Given the description of an element on the screen output the (x, y) to click on. 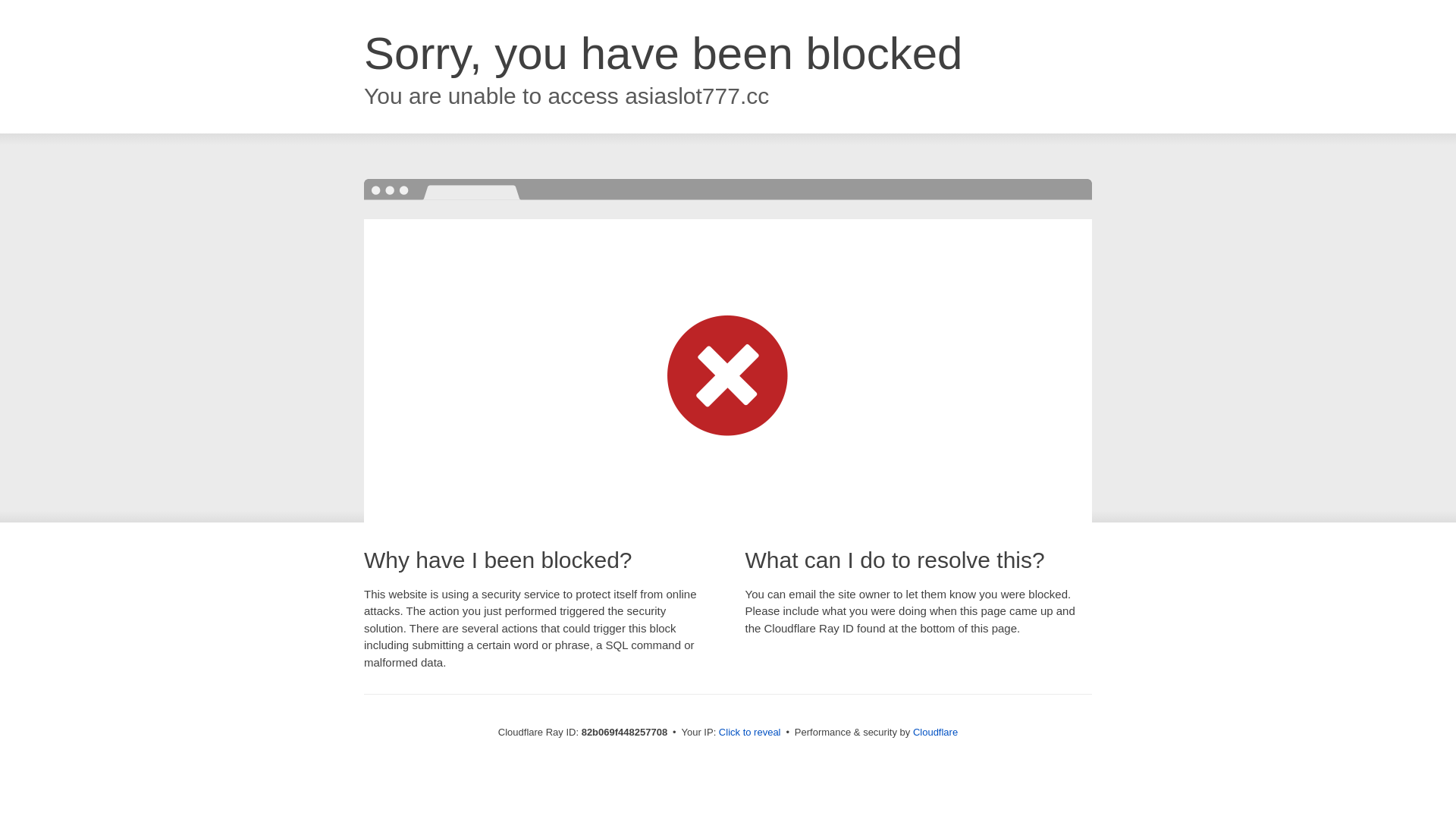
Click to reveal Element type: text (749, 732)
Cloudflare Element type: text (935, 731)
